Given the description of an element on the screen output the (x, y) to click on. 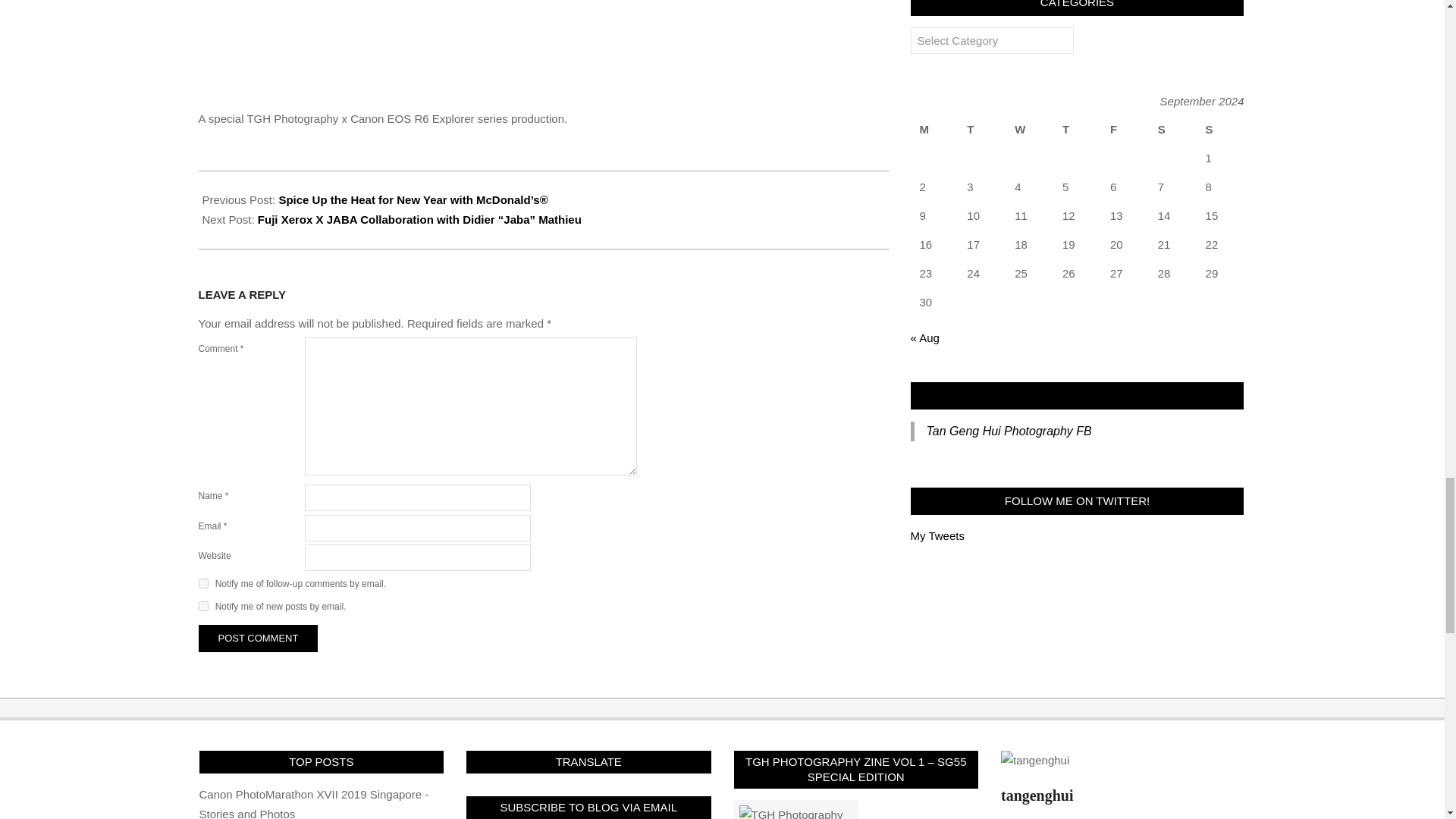
Post Comment (258, 637)
subscribe (203, 583)
subscribe (203, 605)
